Given the description of an element on the screen output the (x, y) to click on. 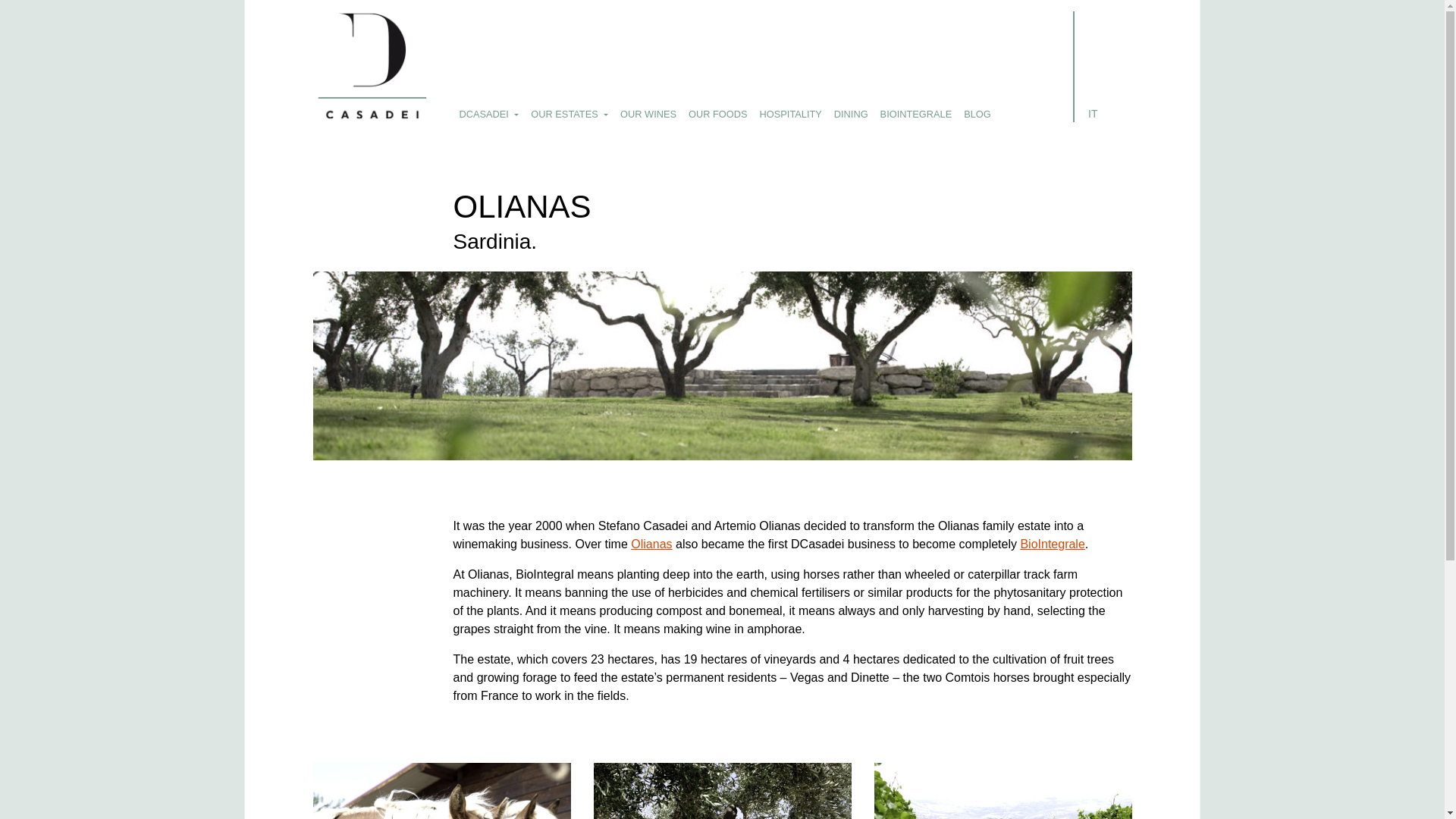
Our foods (718, 114)
OUR FOODS (718, 114)
DINING (851, 114)
OUR ESTATES (569, 114)
Hospitality (791, 114)
DCASADEI (488, 114)
BLOG (977, 114)
BioIntegrale (916, 114)
HOSPITALITY (791, 114)
Dining (851, 114)
Our wines (648, 114)
OUR WINES (648, 114)
BIOINTEGRALE (916, 114)
Blog (977, 114)
